Given the description of an element on the screen output the (x, y) to click on. 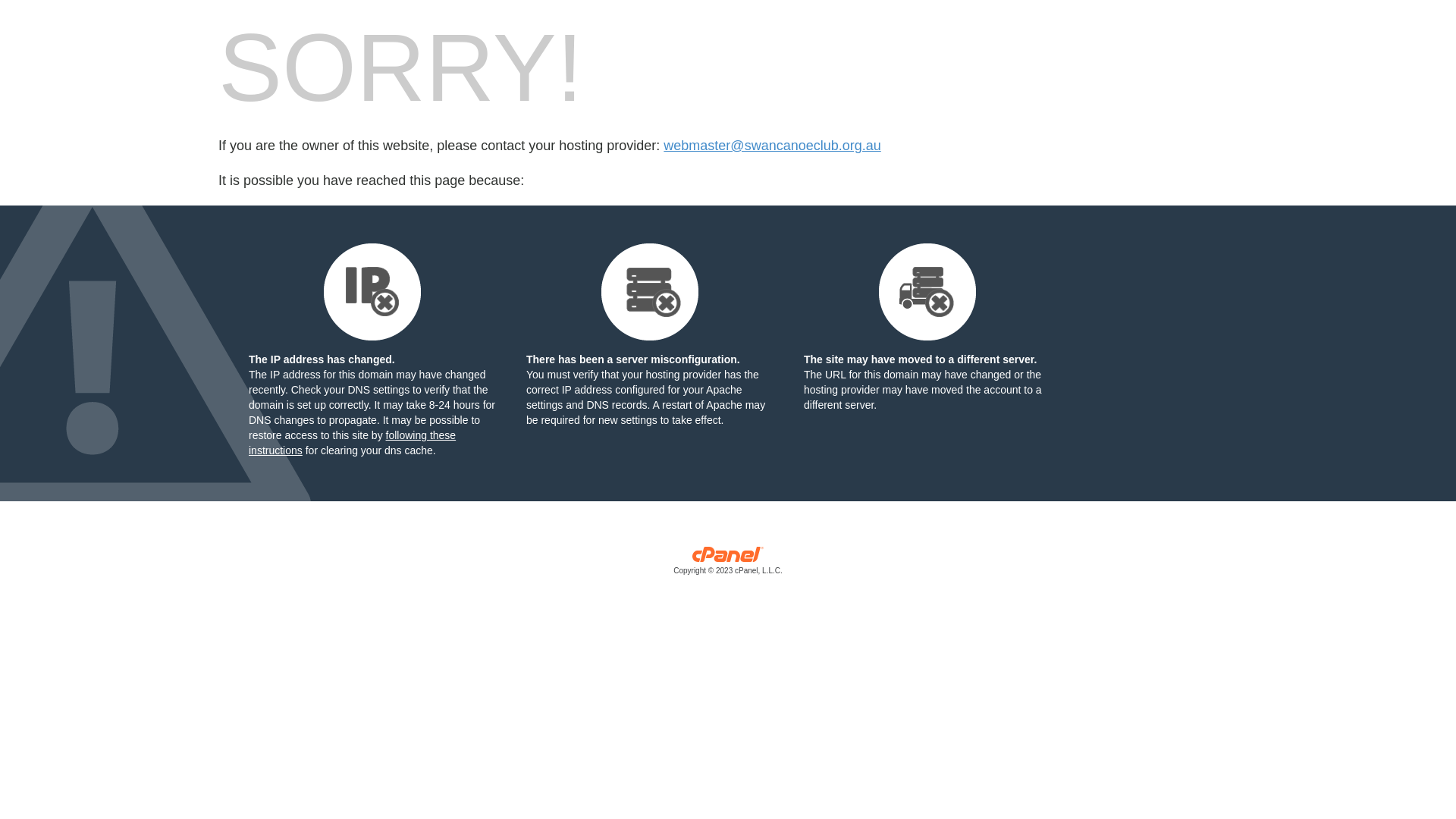
following these instructions Element type: text (351, 442)
webmaster@swancanoeclub.org.au Element type: text (771, 145)
